Given the description of an element on the screen output the (x, y) to click on. 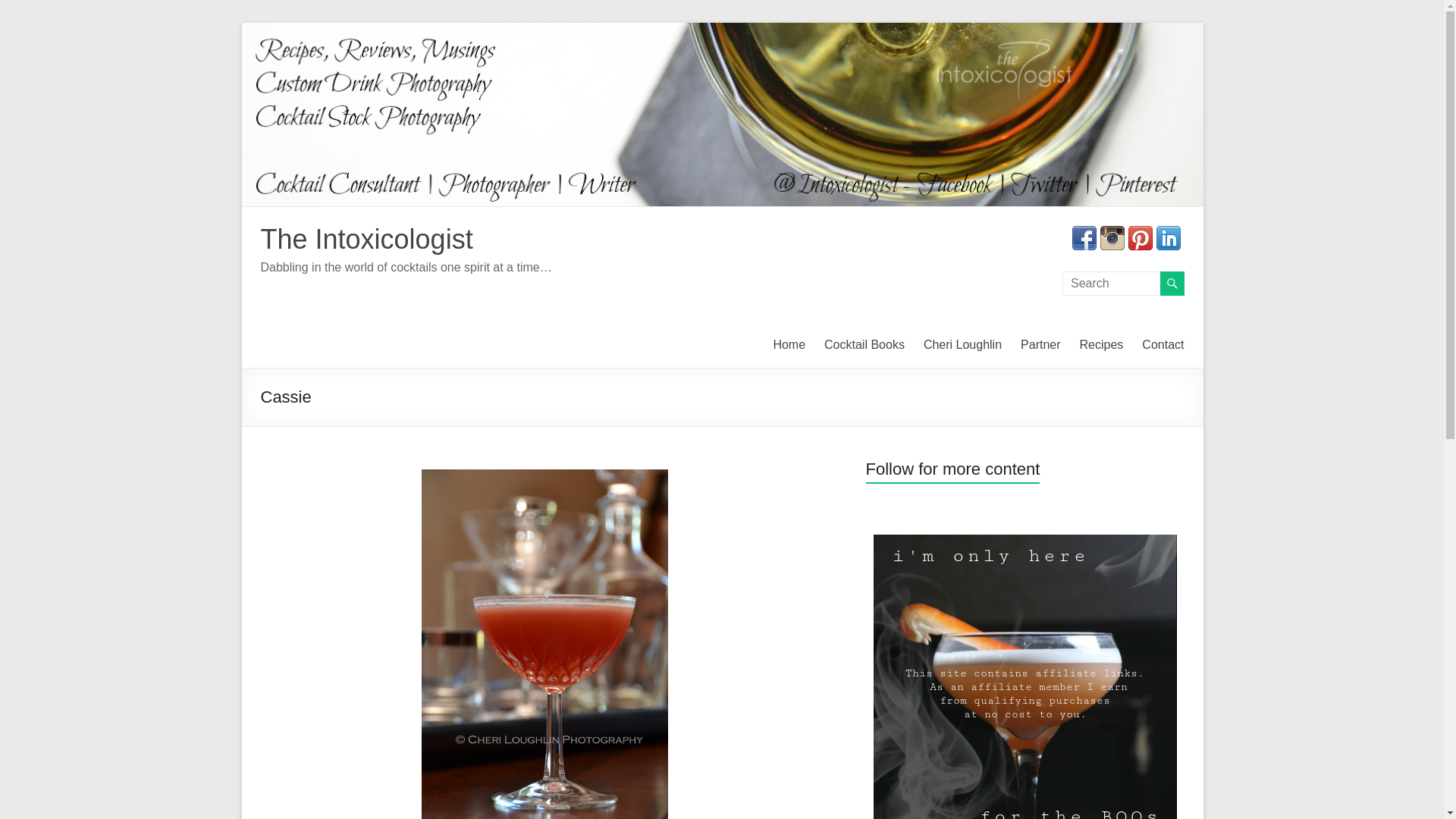
Connect on Facebook (1083, 232)
The Intoxicologist (366, 238)
LinkedIn (1167, 232)
Intoxicologist on Pinterest (1140, 232)
Partner (1039, 344)
Cassie 7 photo copyright Cheri Loughlin (545, 644)
Cheri Loughlin (962, 344)
Home (789, 344)
Cocktail Books (864, 344)
theIntoxicologist on Instagram (1111, 232)
Recipes (1102, 344)
The Intoxicologist (366, 238)
